Given the description of an element on the screen output the (x, y) to click on. 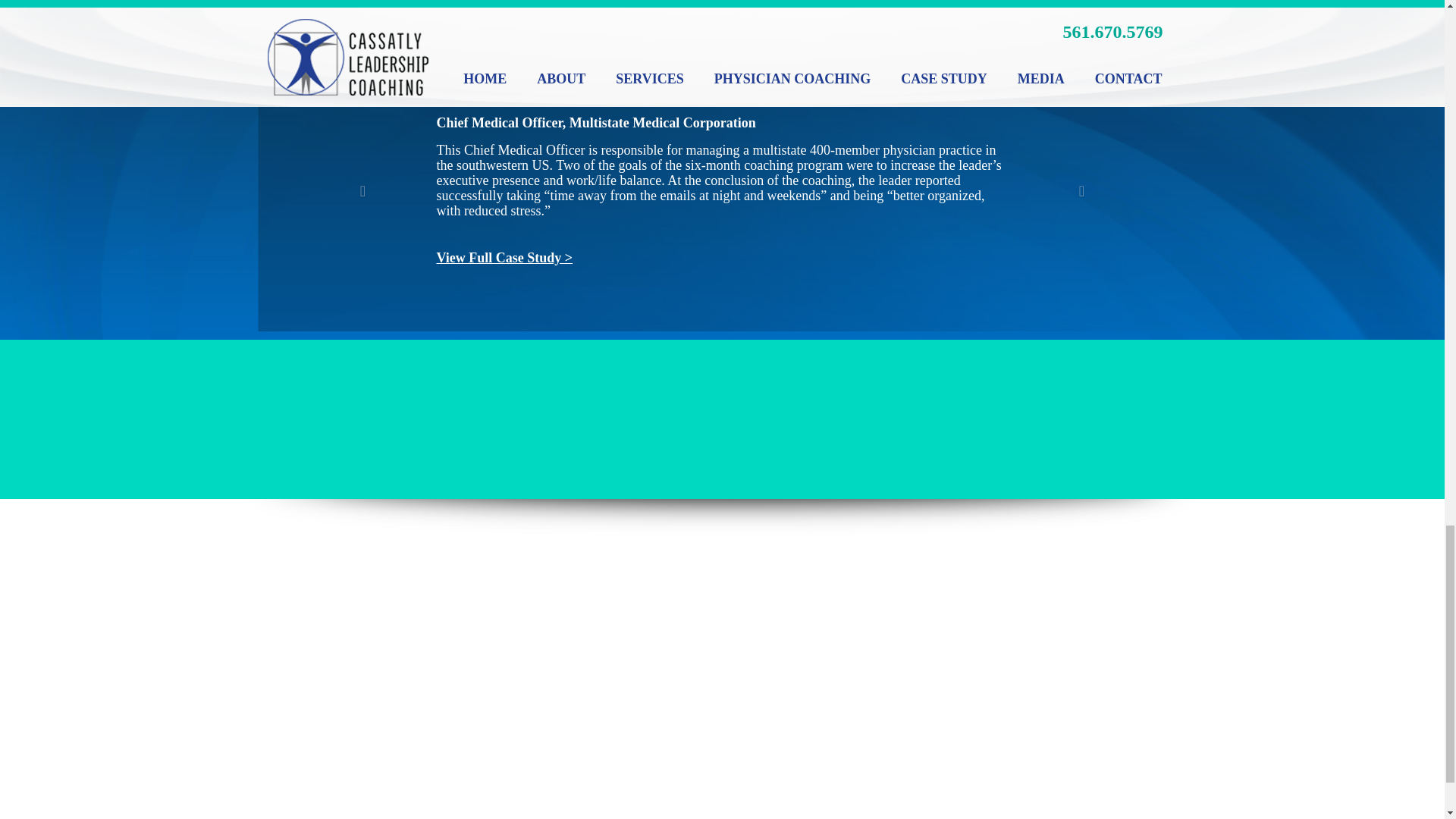
View All Testimonials (721, 3)
